Given the description of an element on the screen output the (x, y) to click on. 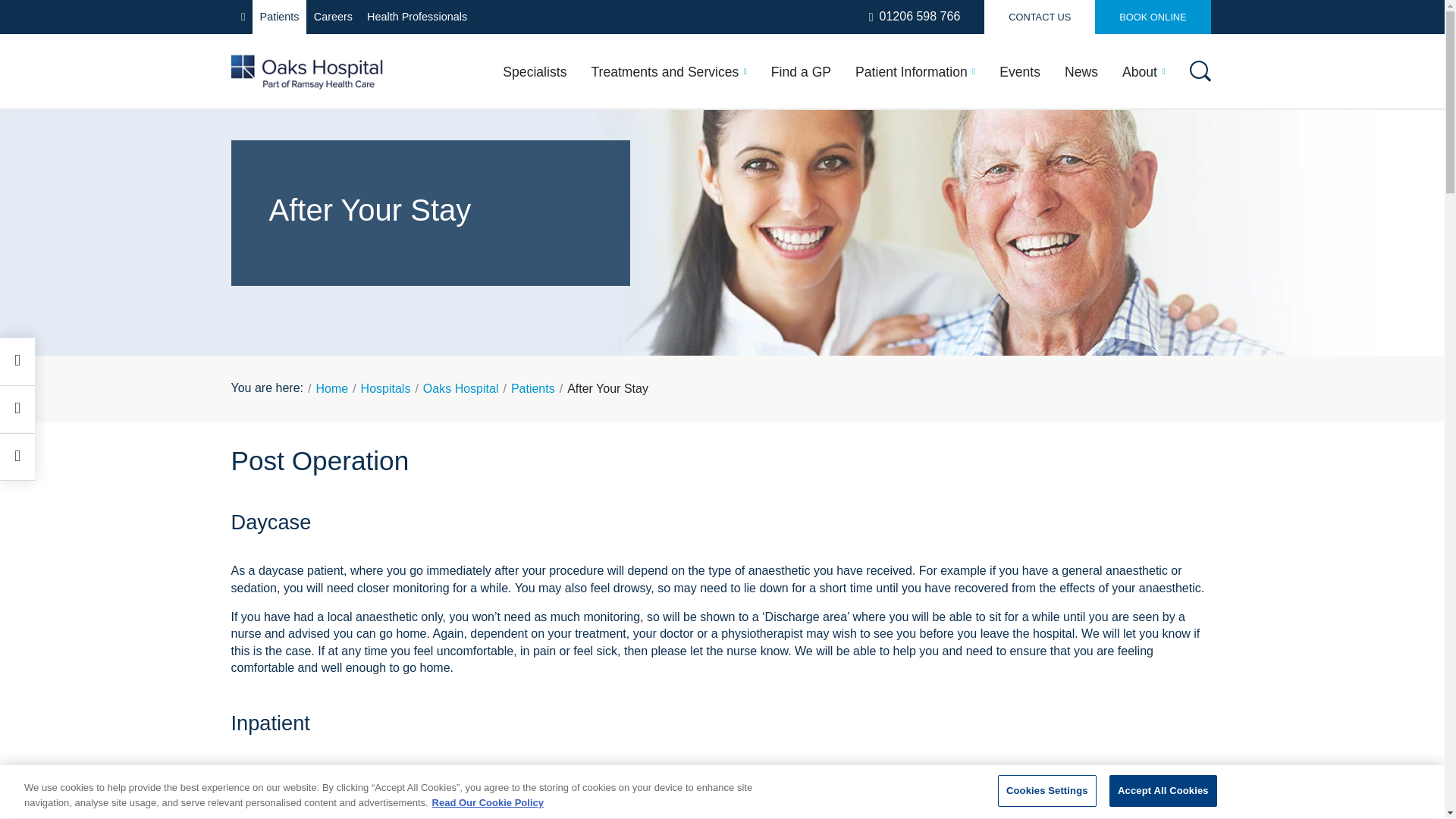
Cardiology (475, 179)
CT (1016, 235)
Carpal Tunnel (854, 235)
Orthopaedics (311, 320)
Logo (306, 71)
MRI (1020, 207)
Patients (278, 17)
Hip Replacement (864, 263)
Endoscopy (1042, 320)
Ophthalmology (489, 291)
